Given the description of an element on the screen output the (x, y) to click on. 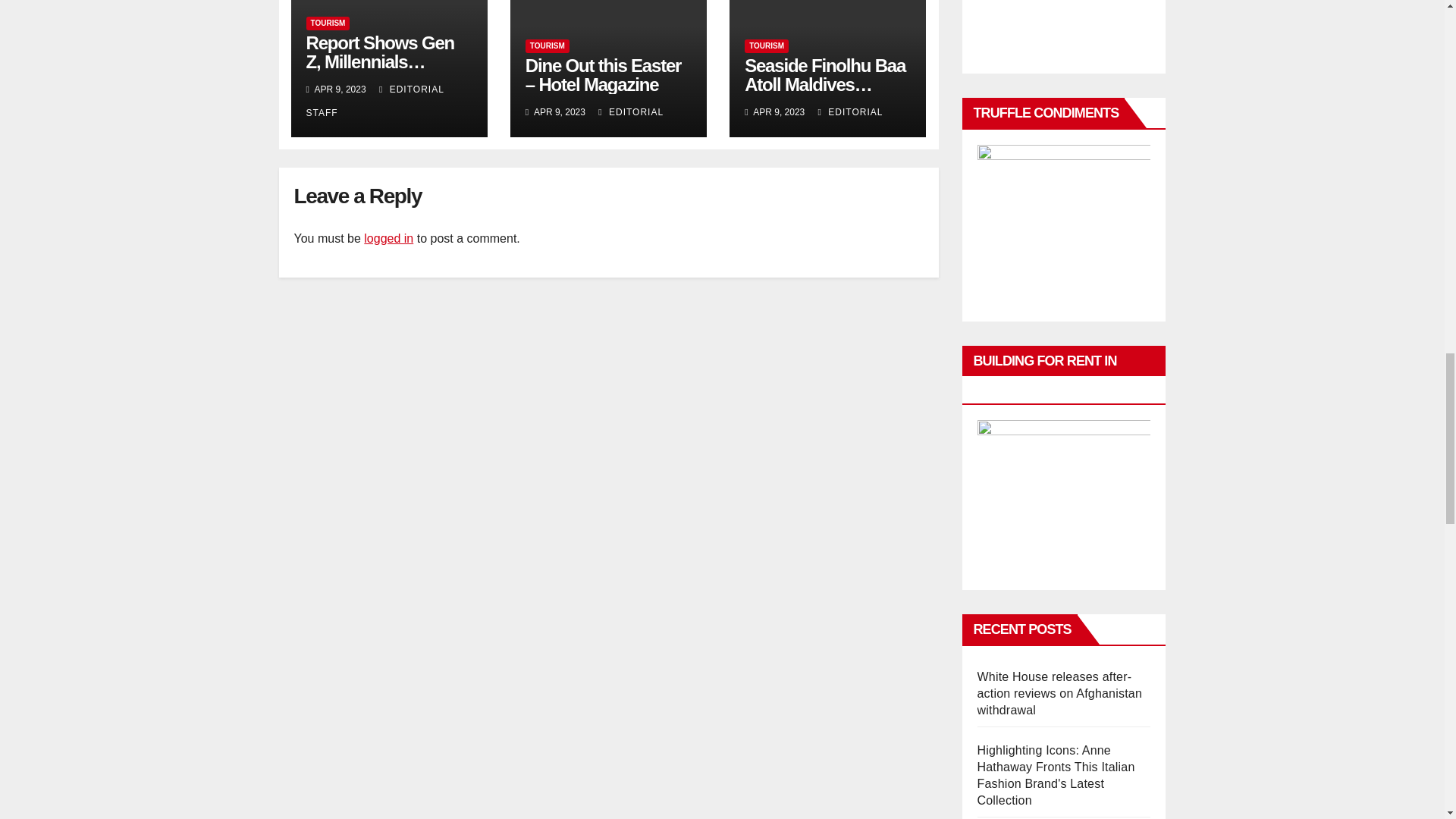
TOURISM (547, 46)
TOURISM (327, 23)
EDITORIAL (630, 112)
EDITORIAL STAFF (374, 100)
